Given the description of an element on the screen output the (x, y) to click on. 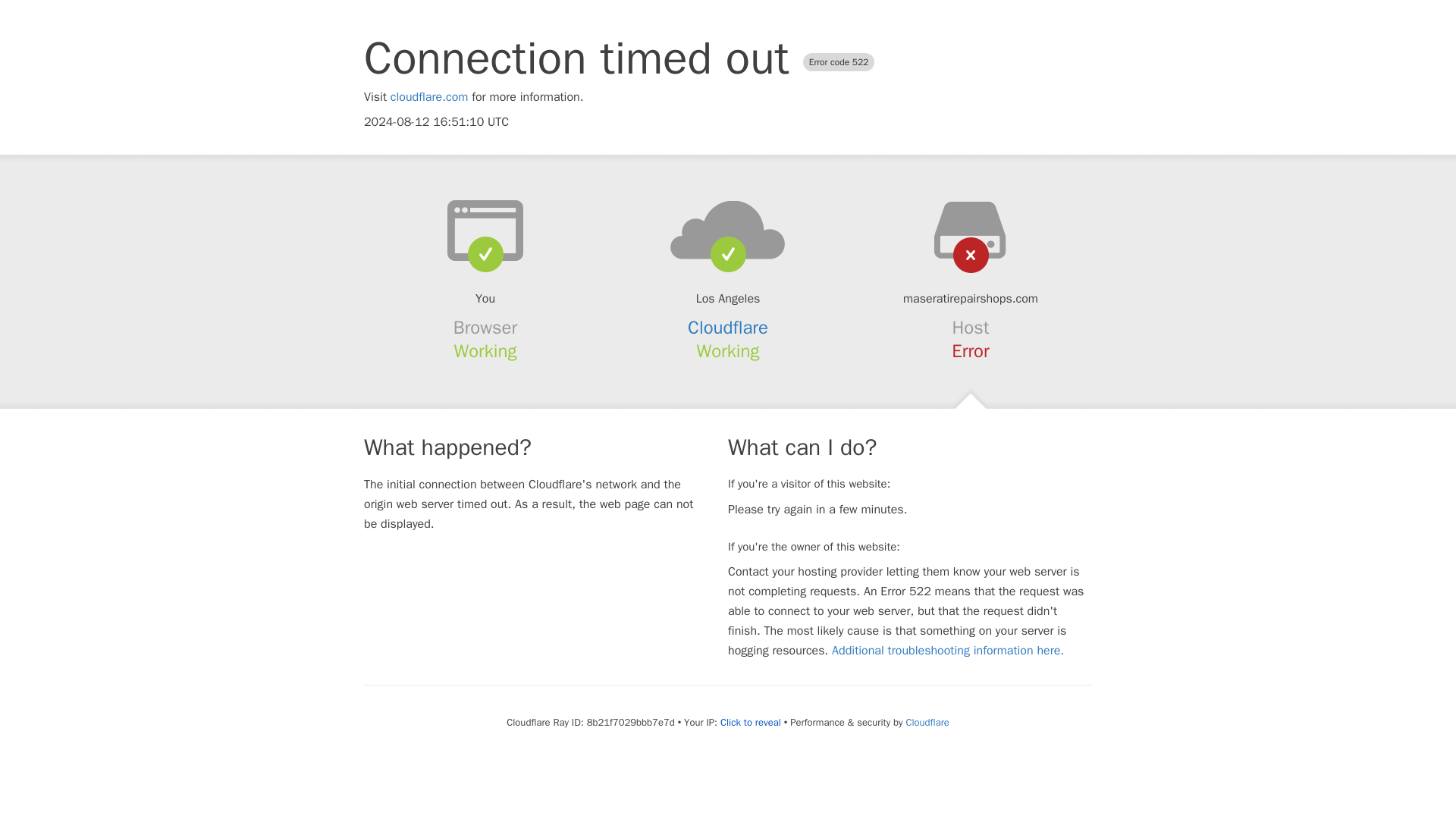
Additional troubleshooting information here. (947, 650)
Click to reveal (750, 722)
cloudflare.com (429, 96)
Cloudflare (927, 721)
Cloudflare (727, 327)
